Given the description of an element on the screen output the (x, y) to click on. 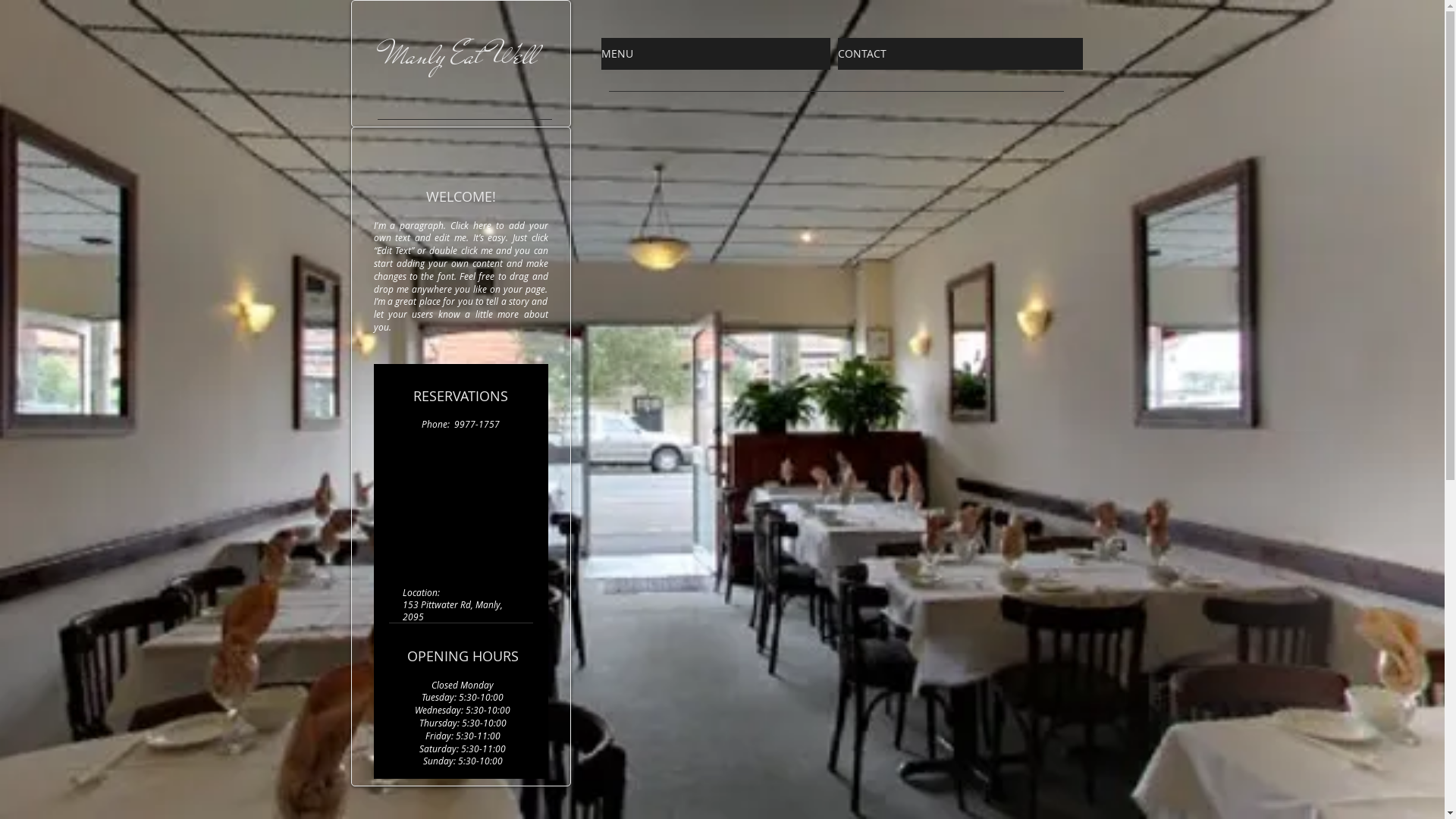
MENU Element type: text (714, 53)
Manly Eat Well Element type: text (460, 55)
CONTACT Element type: text (959, 53)
Embedded Content Element type: hover (468, 524)
